Given the description of an element on the screen output the (x, y) to click on. 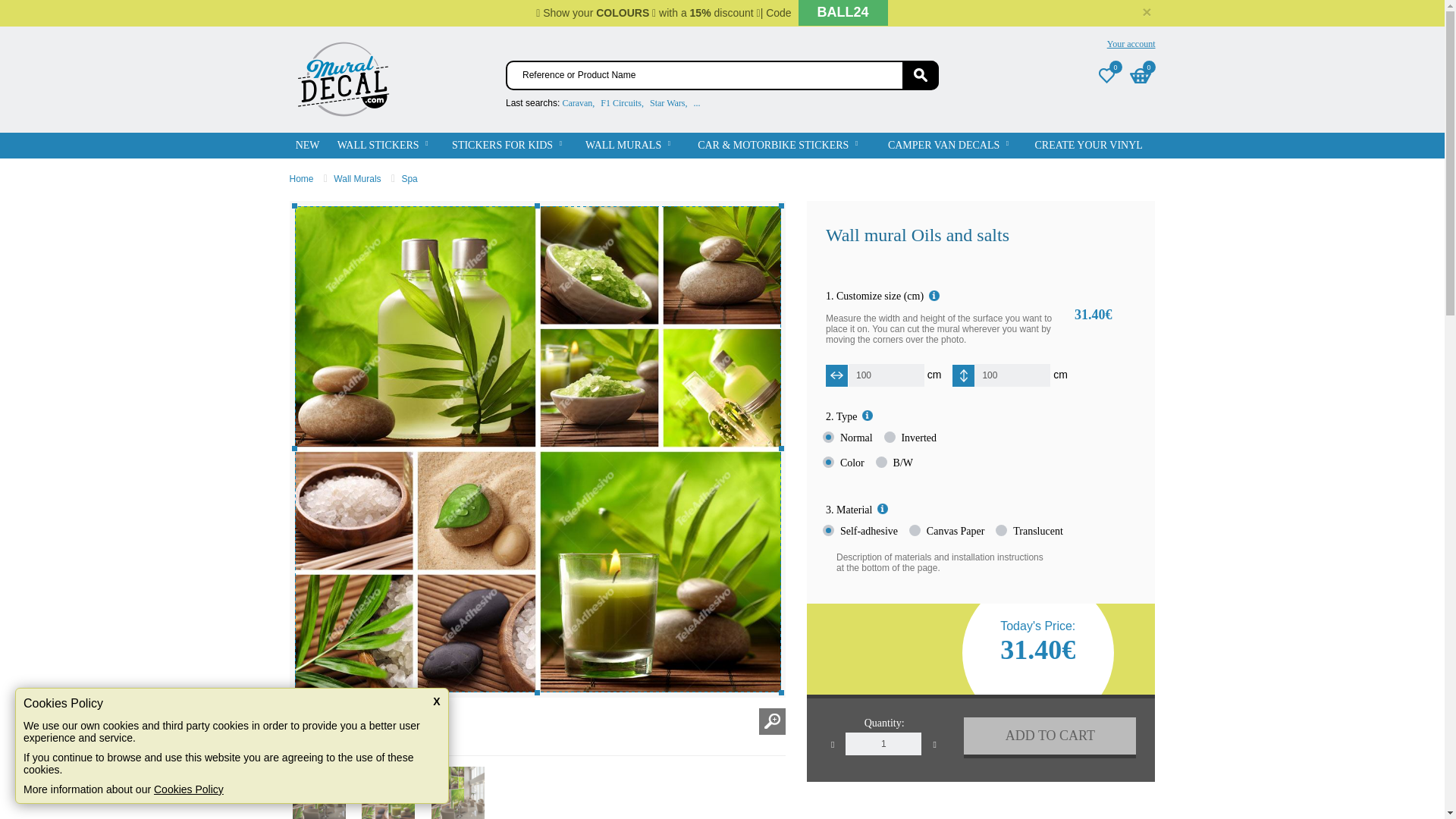
Search Product (920, 74)
NEW (307, 145)
Your account (1127, 44)
1 (883, 743)
0 (1140, 75)
F1 Circuits (620, 102)
height (1000, 374)
Caravan (577, 102)
100 (874, 374)
WALL STICKERS (382, 145)
100 (1000, 374)
0 (1107, 75)
width (874, 374)
Star Wars (666, 102)
